Given the description of an element on the screen output the (x, y) to click on. 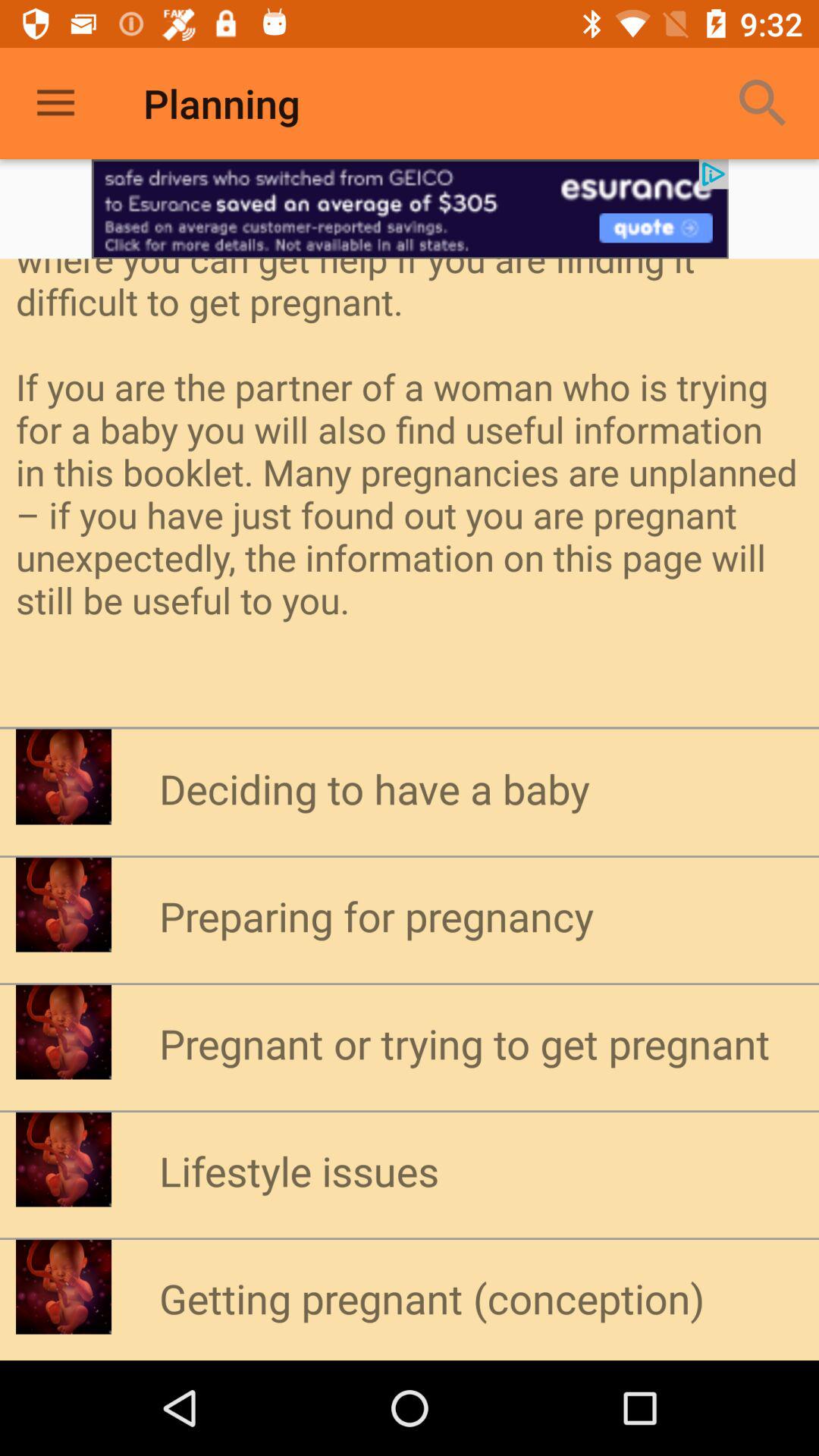
advertisement for esurance (409, 208)
